Given the description of an element on the screen output the (x, y) to click on. 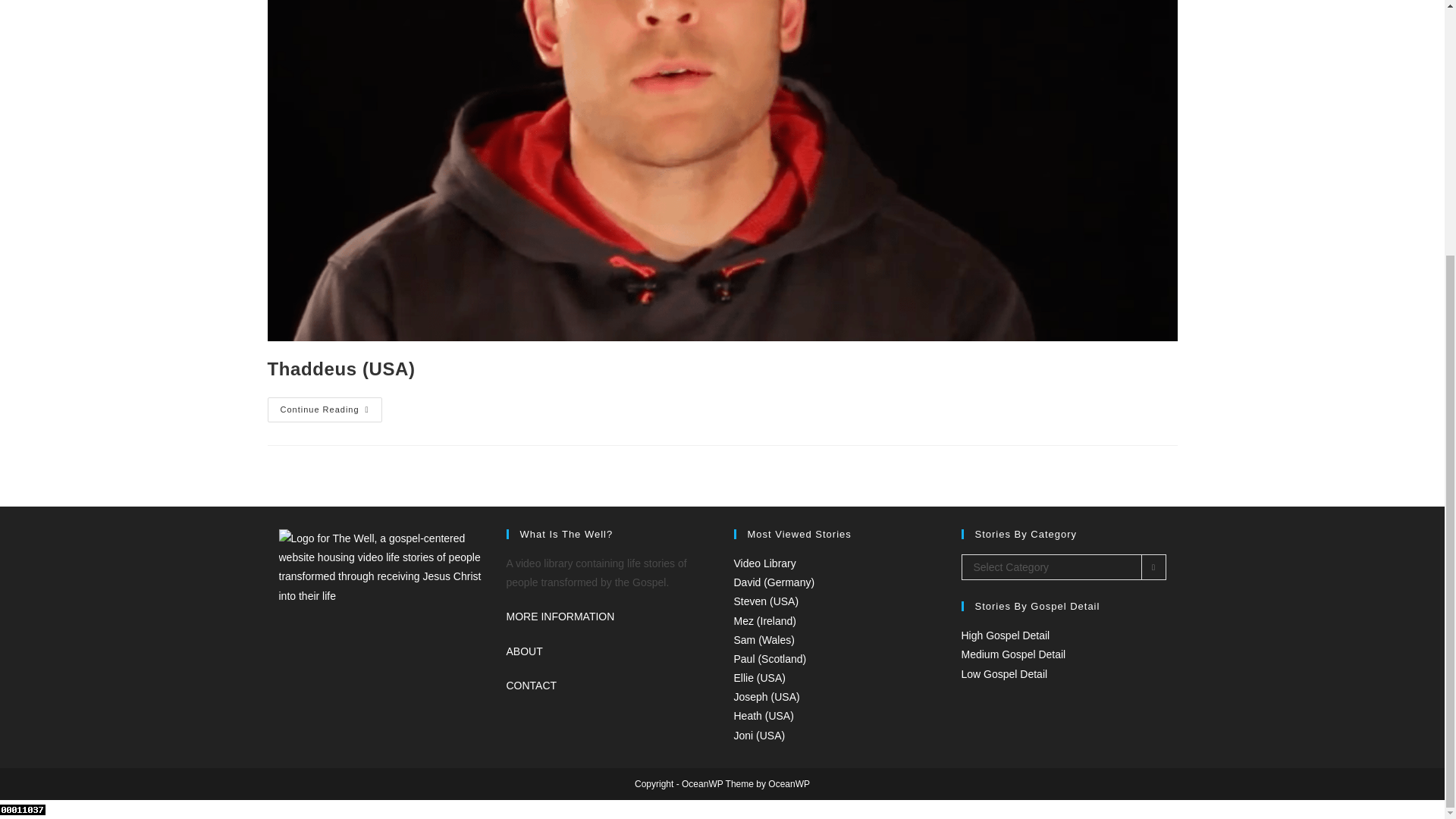
Video Library (764, 563)
High Gospel Detail (1004, 635)
Medium Gospel Detail (1012, 654)
ABOUT (524, 651)
CONTACT (531, 685)
Low Gospel Detail (1004, 674)
MORE INFORMATION (560, 616)
